Given the description of an element on the screen output the (x, y) to click on. 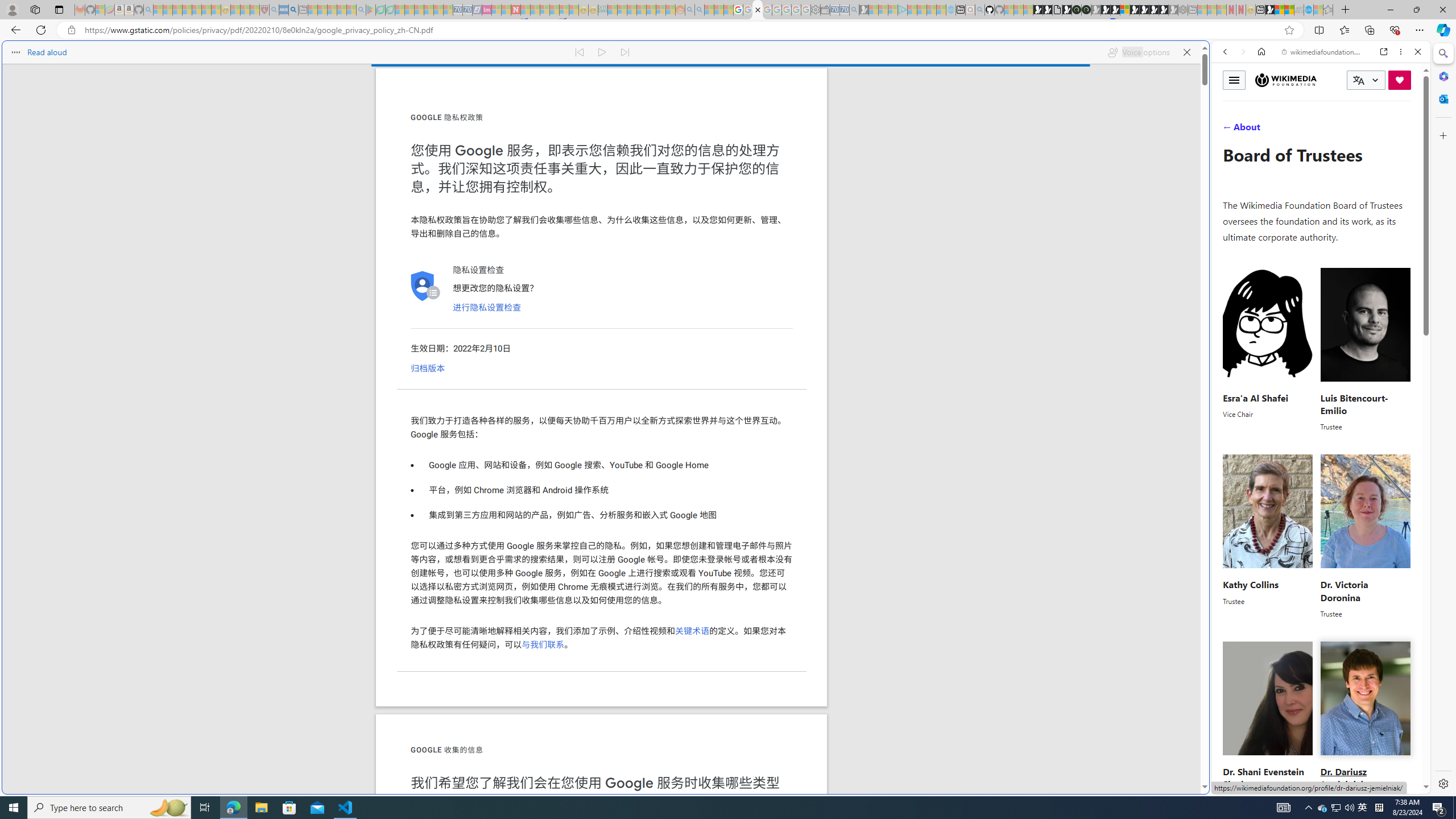
Victoria Doronina in 2021 (1365, 511)
